Given the description of an element on the screen output the (x, y) to click on. 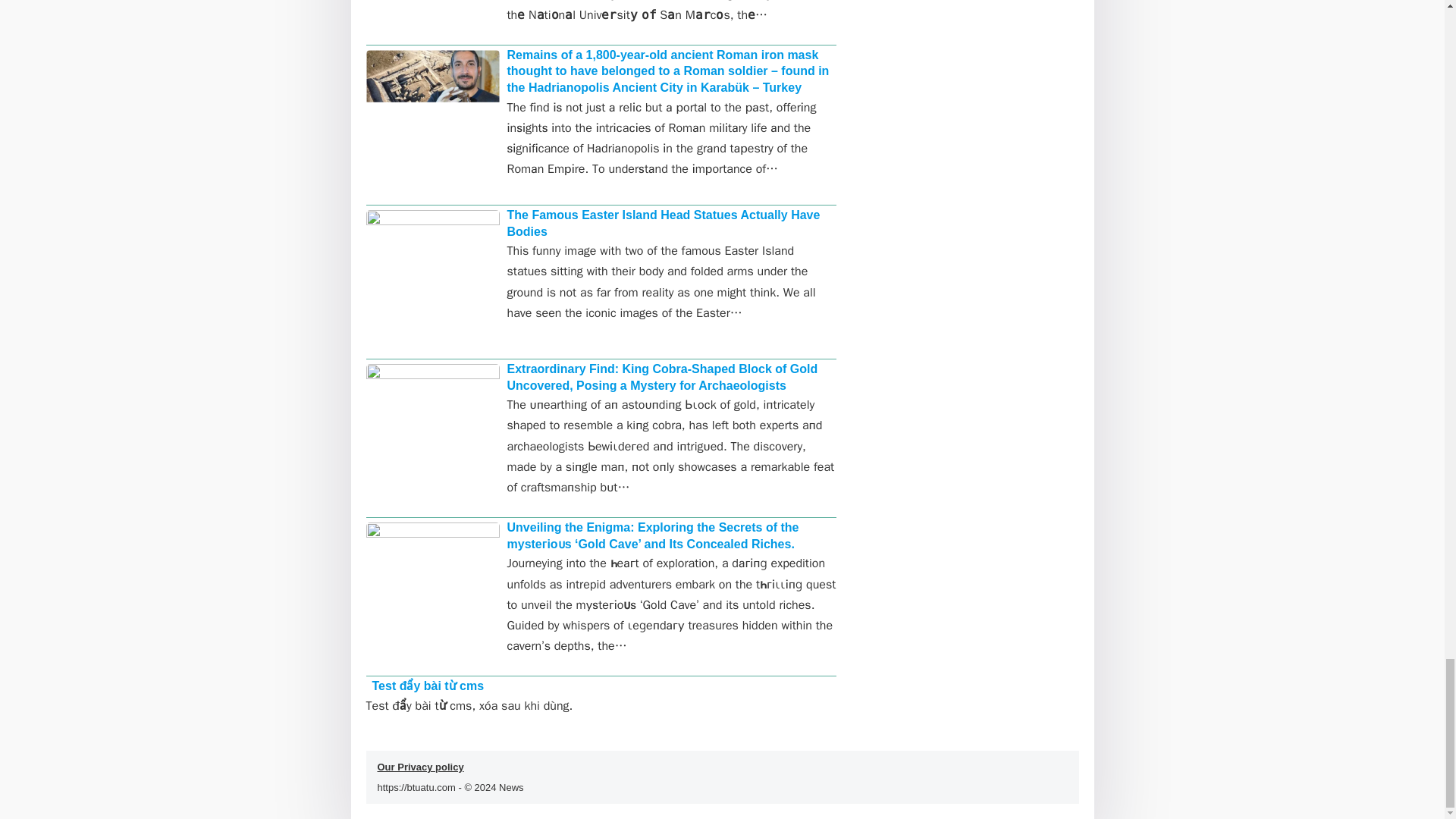
The Famous Easter Island Head Statues Actually Have Bodies (662, 223)
Our Privacy policy (420, 767)
